Given the description of an element on the screen output the (x, y) to click on. 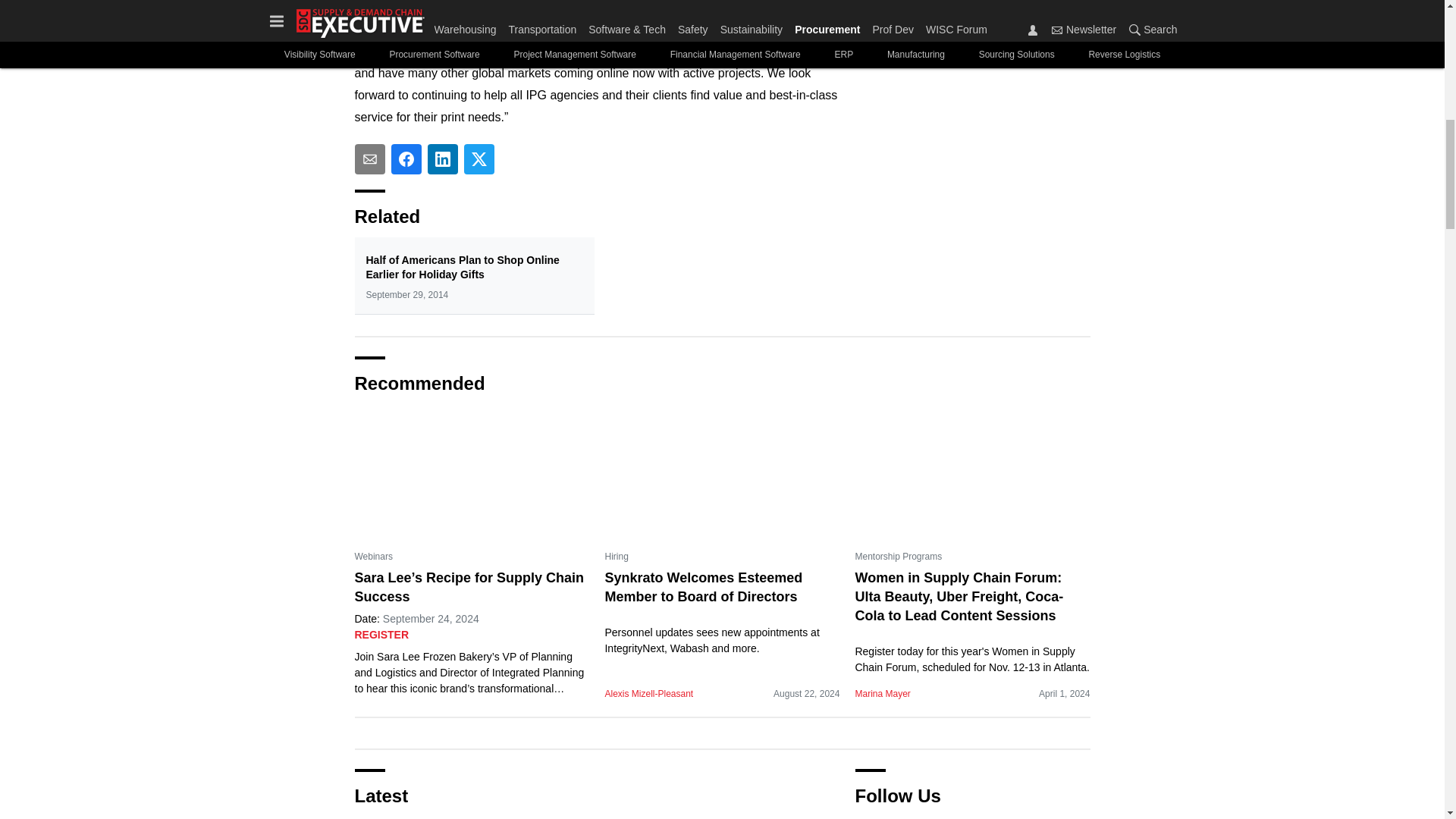
Share To linkedin (443, 159)
Share To facebook (406, 159)
Share To twitter (479, 159)
Webinars (374, 556)
Share To email (370, 159)
